Given the description of an element on the screen output the (x, y) to click on. 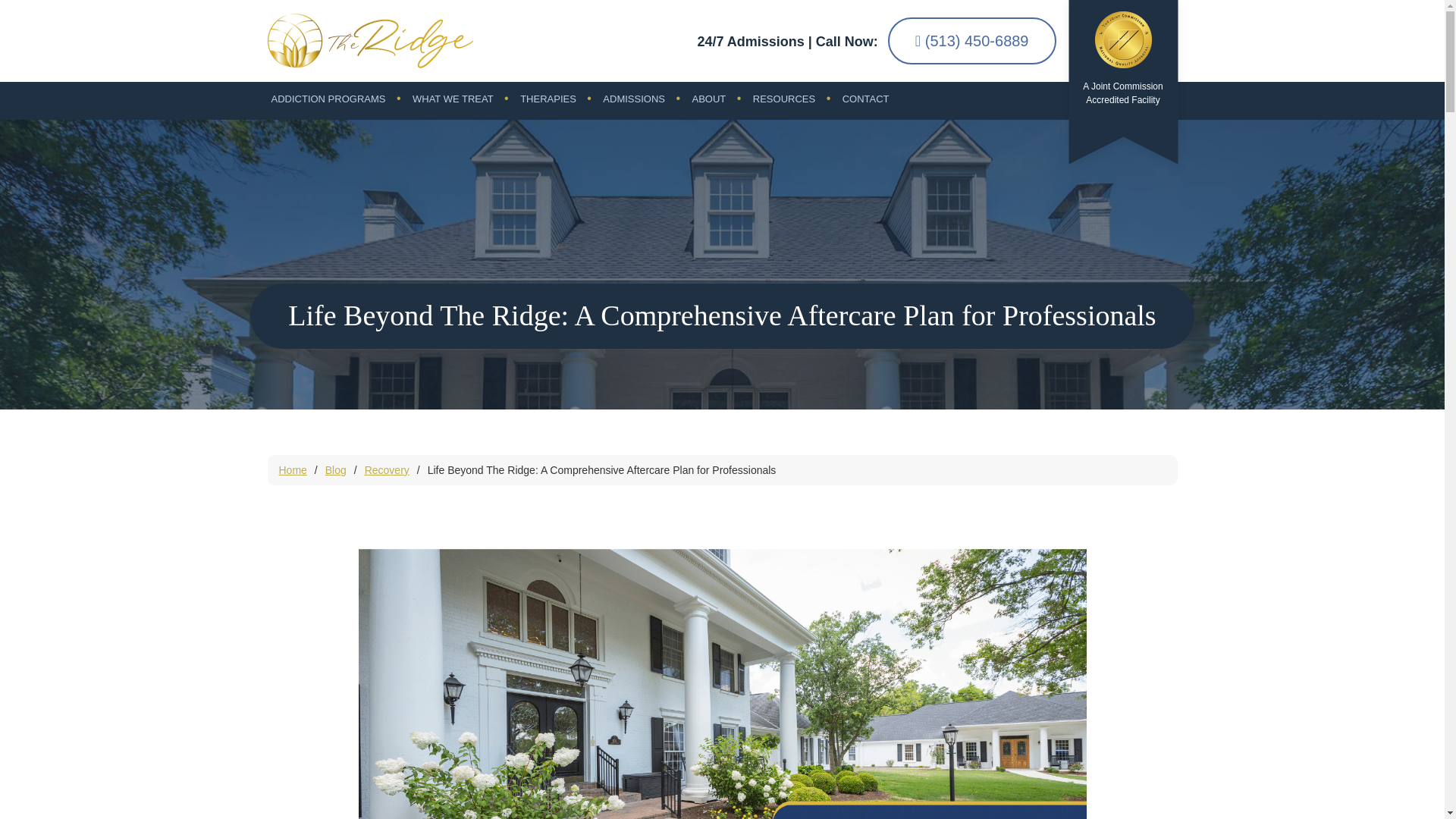
Go to Blog. (335, 469)
logo (368, 40)
Go to The Ridge Ohio. (293, 469)
Go to the Recovery Category archives. (387, 469)
